Given the description of an element on the screen output the (x, y) to click on. 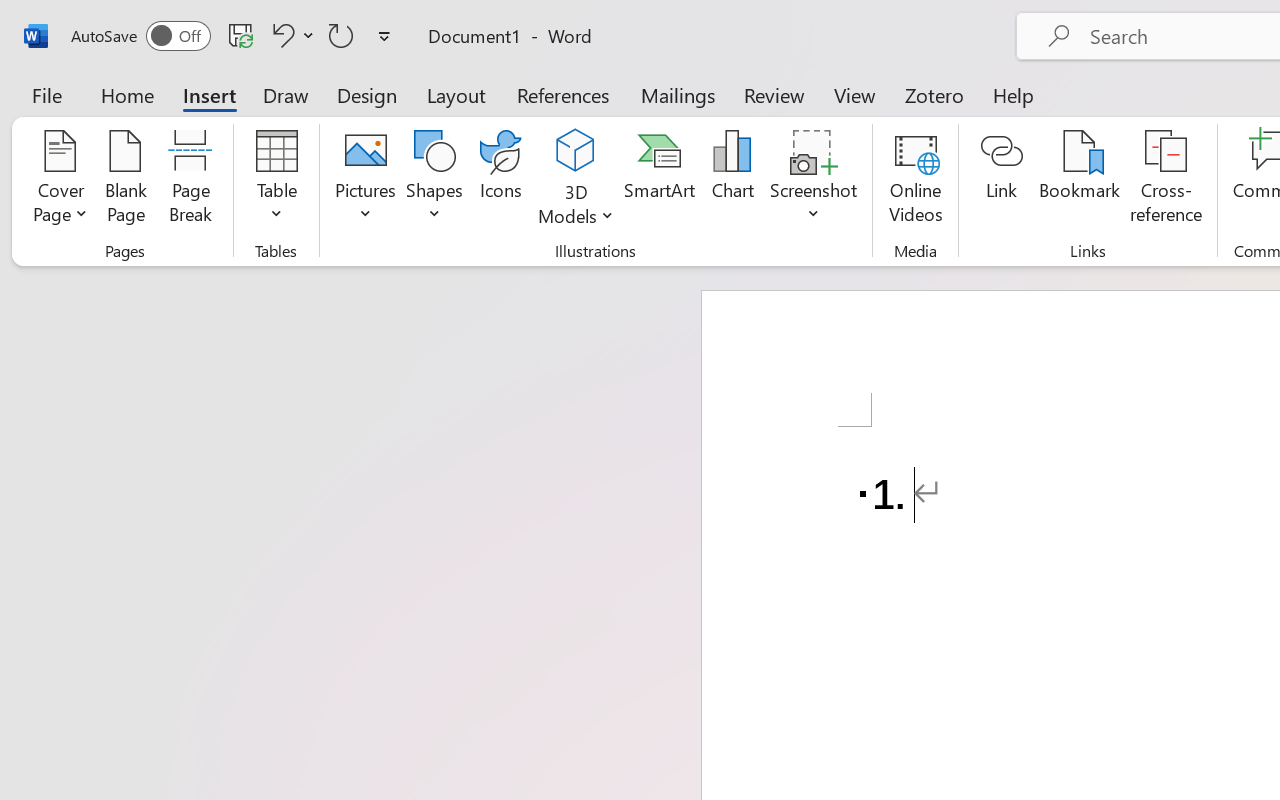
Undo Number Default (290, 35)
Icons (500, 179)
Link (1001, 179)
SmartArt... (659, 179)
Blank Page (125, 179)
Screenshot (813, 179)
Cover Page (60, 179)
Table (276, 179)
Online Videos... (915, 179)
